Given the description of an element on the screen output the (x, y) to click on. 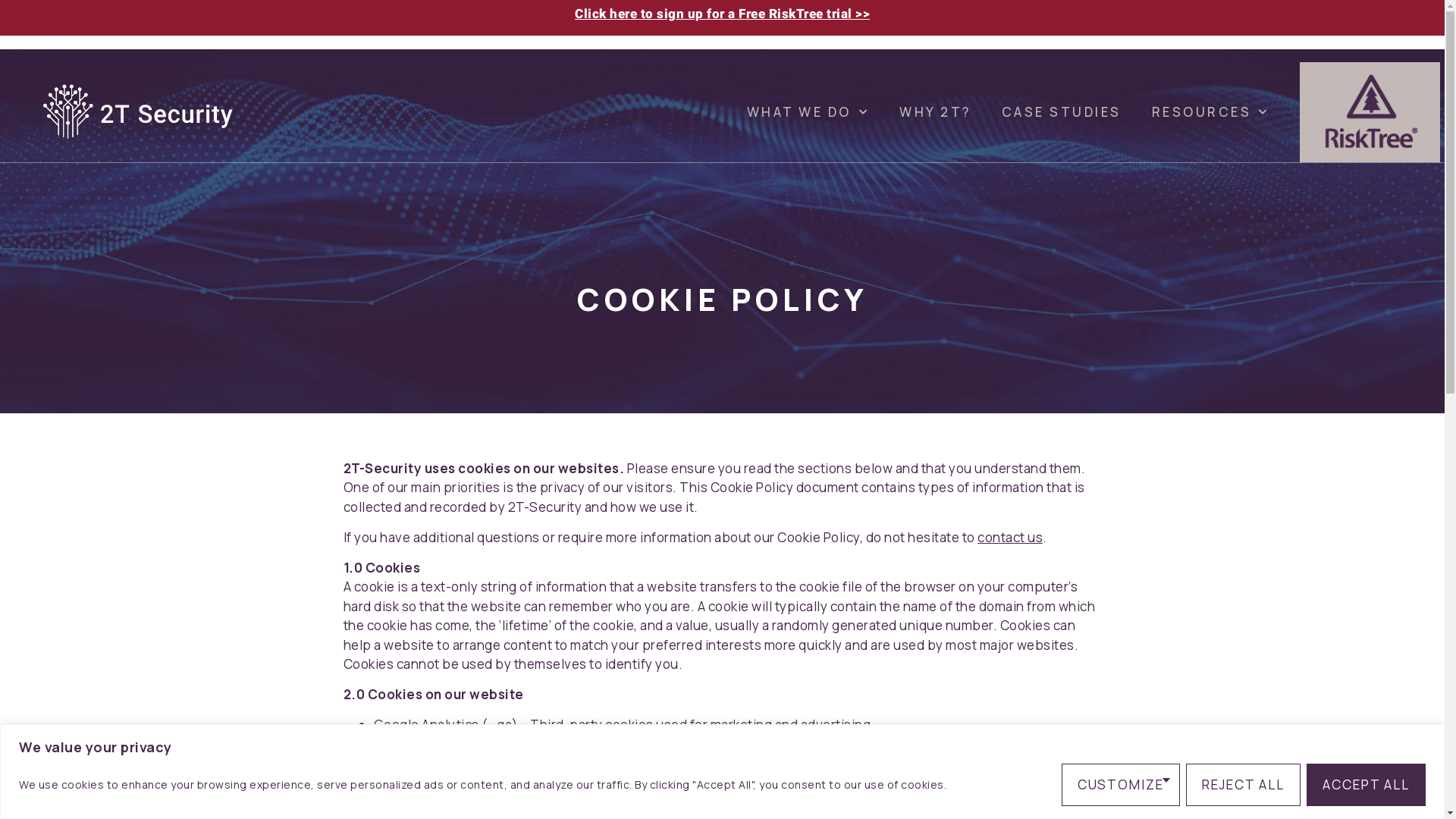
WHY 2T? Element type: text (935, 111)
CUSTOMIZE Element type: text (1120, 783)
REJECT ALL Element type: text (1243, 783)
WHAT WE DO Element type: text (807, 111)
CASE STUDIES Element type: text (1061, 111)
Click here to sign up for a Free RiskTree trial >> Element type: text (721, 13)
ACCEPT ALL Element type: text (1365, 783)
RESOURCES Element type: text (1210, 111)
contact us Element type: text (1009, 537)
